Given the description of an element on the screen output the (x, y) to click on. 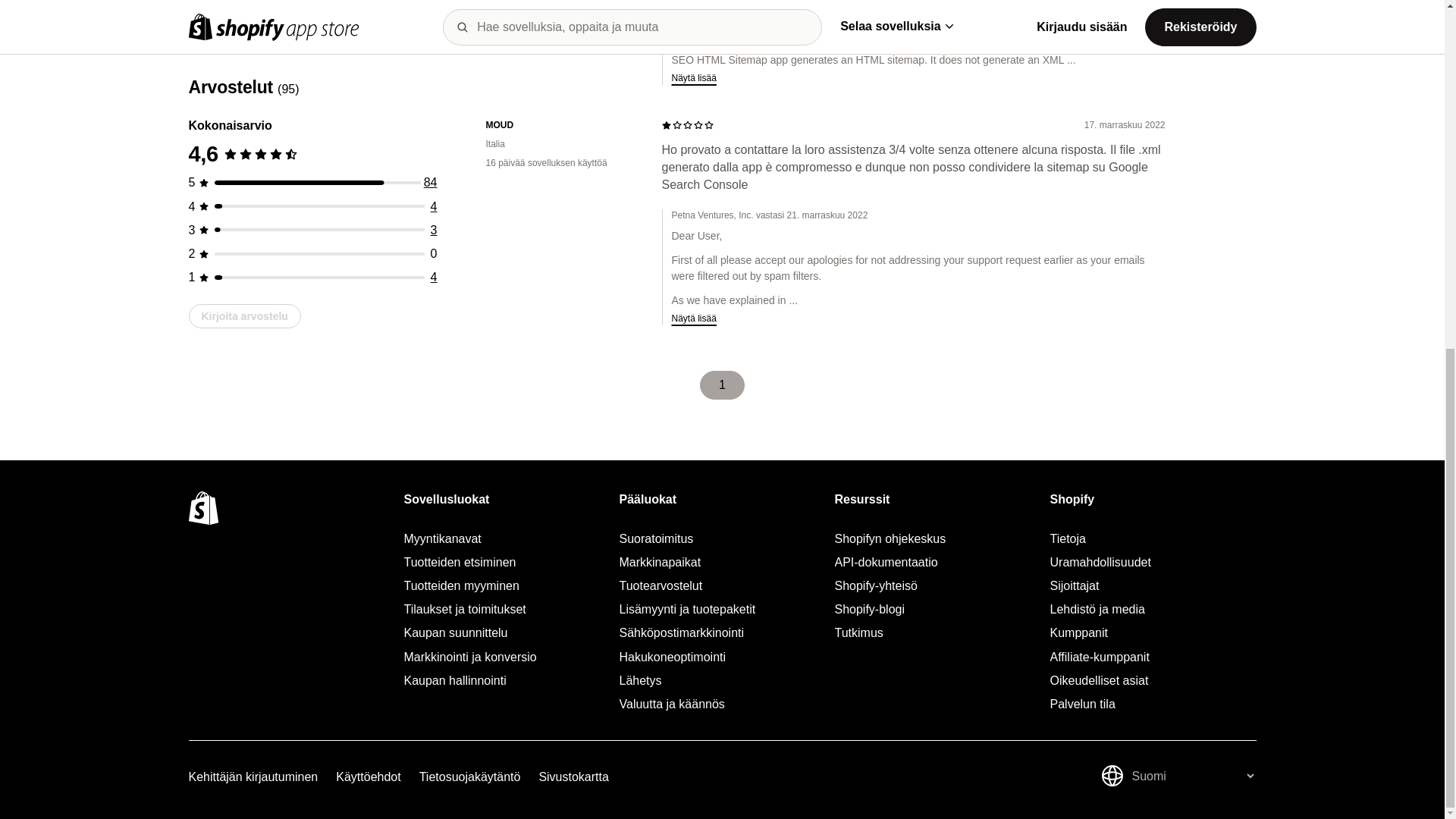
MOUD (560, 124)
